Given the description of an element on the screen output the (x, y) to click on. 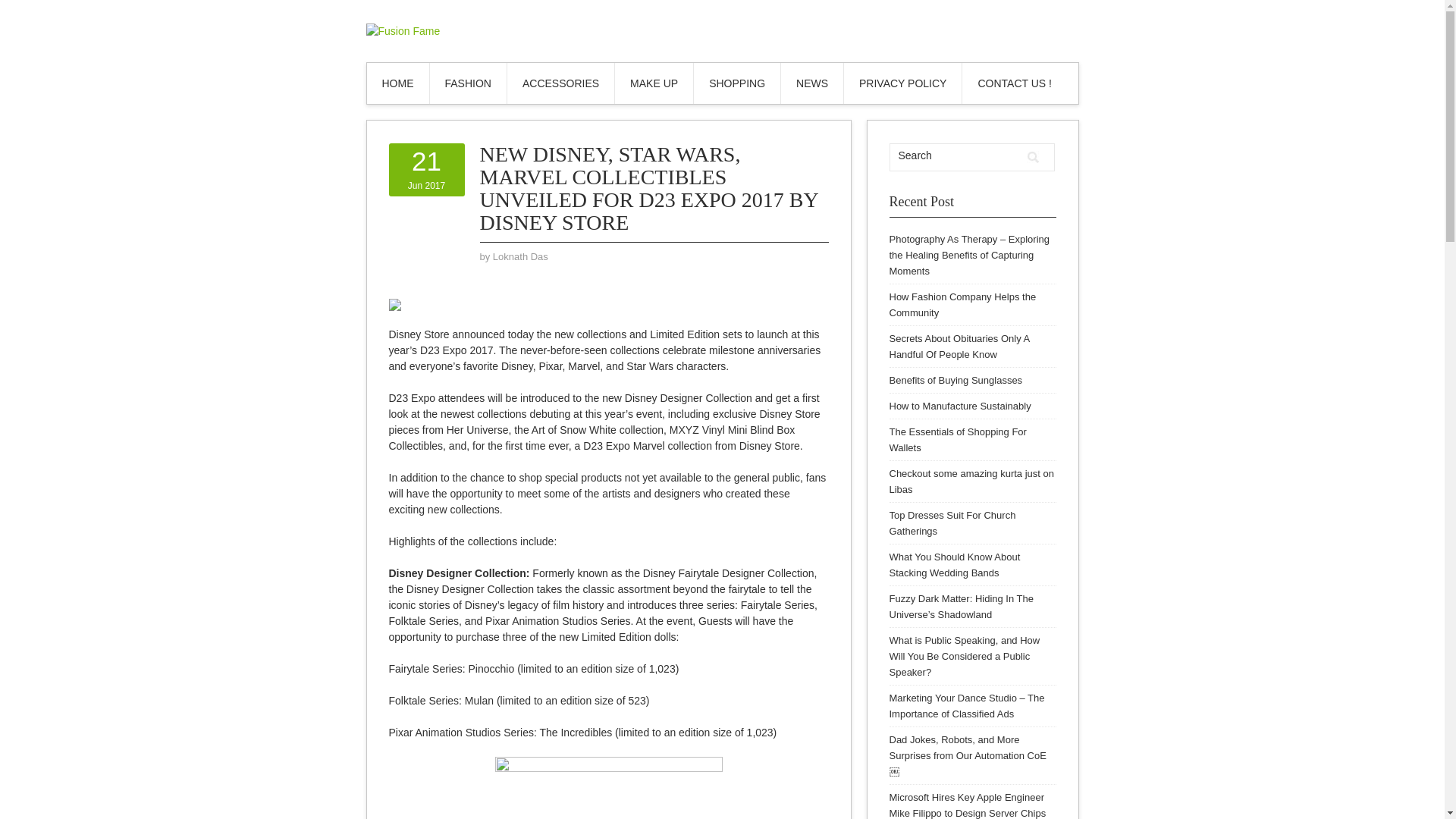
by Loknath Das (520, 256)
June 21, 2017 10:29 am (426, 169)
How Fashion Company Helps the Community (961, 304)
Checkout some amazing kurta just on Libas (971, 481)
Secrets About Obituaries Only A Handful Of People Know (958, 346)
HOME (426, 169)
Search (397, 83)
CONTACT US ! (954, 155)
Benefits of Buying Sunglasses (1014, 83)
NEWS (955, 379)
The Essentials of Shopping For Wallets (811, 83)
ACCESSORIES (957, 439)
FASHION (560, 83)
SHOPPING (467, 83)
